Given the description of an element on the screen output the (x, y) to click on. 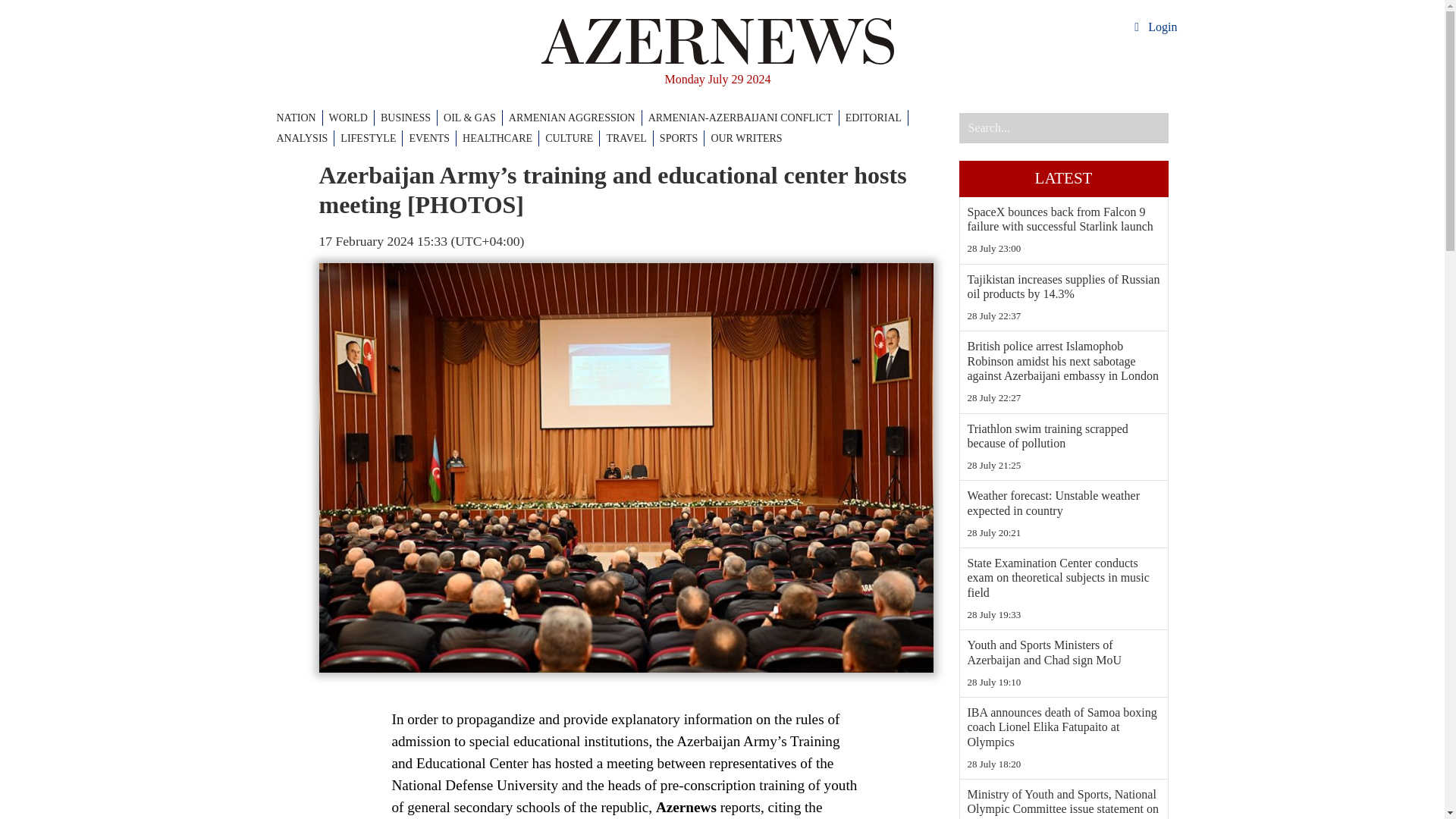
Login (1152, 26)
OUR WRITERS (745, 138)
HEALTHCARE (500, 138)
ARMENIAN AGGRESSION (575, 117)
NATION (298, 117)
28 July 21:25 (1064, 465)
BUSINESS (409, 117)
TRAVEL (628, 138)
SPORTS (681, 138)
28 July 23:00 (1064, 248)
LIFESTYLE (371, 138)
ANALYSIS (305, 138)
EDITORIAL (876, 117)
LATEST (1062, 178)
